Given the description of an element on the screen output the (x, y) to click on. 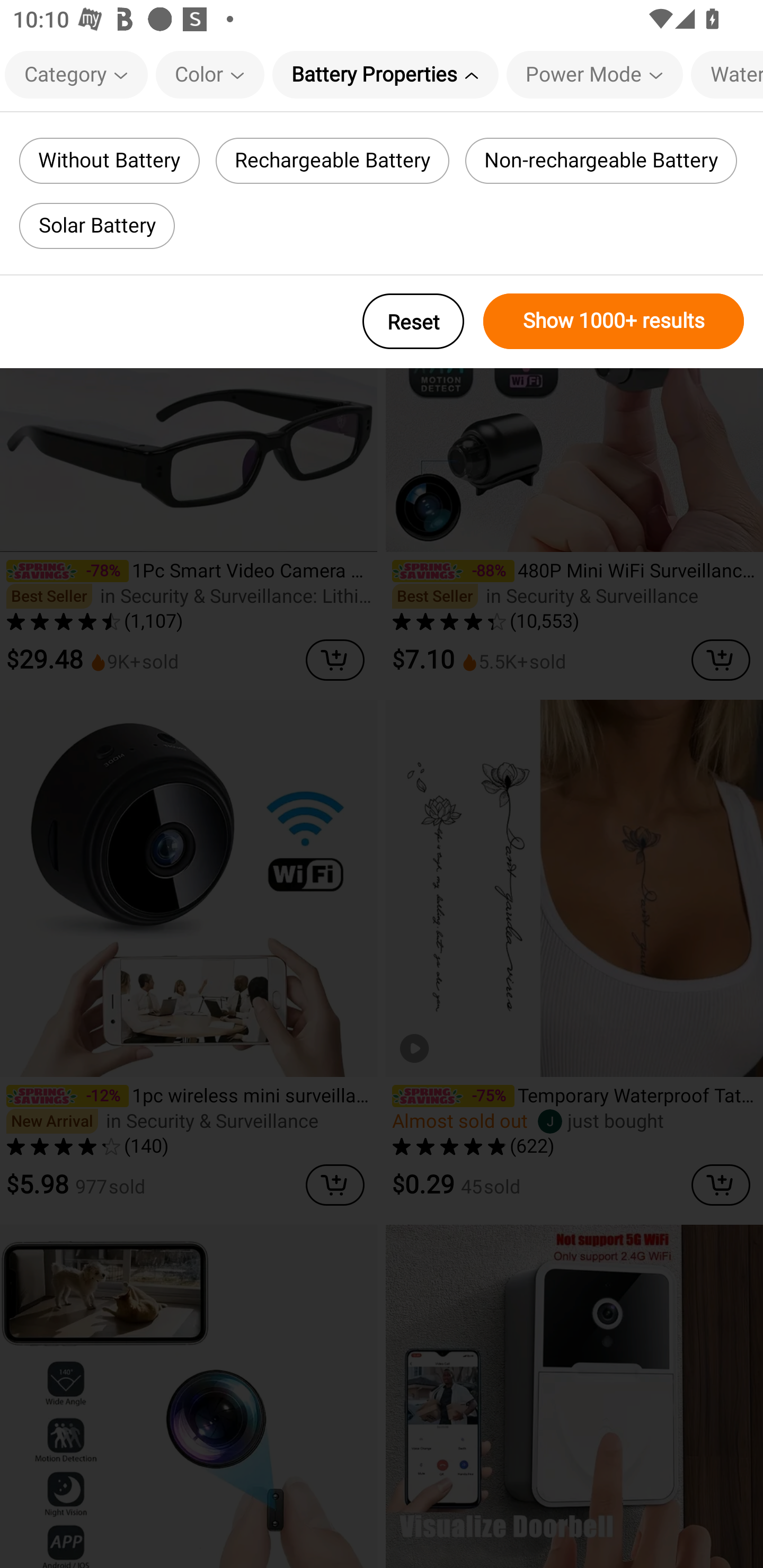
Category (76, 74)
Color (209, 74)
Battery Properties (385, 74)
Power Mode (594, 74)
Without Battery (109, 160)
Rechargeable Battery (332, 160)
Non-rechargeable Battery (601, 160)
Solar Battery (96, 225)
Reset (412, 321)
Show 1000+ results (612, 321)
